Given the description of an element on the screen output the (x, y) to click on. 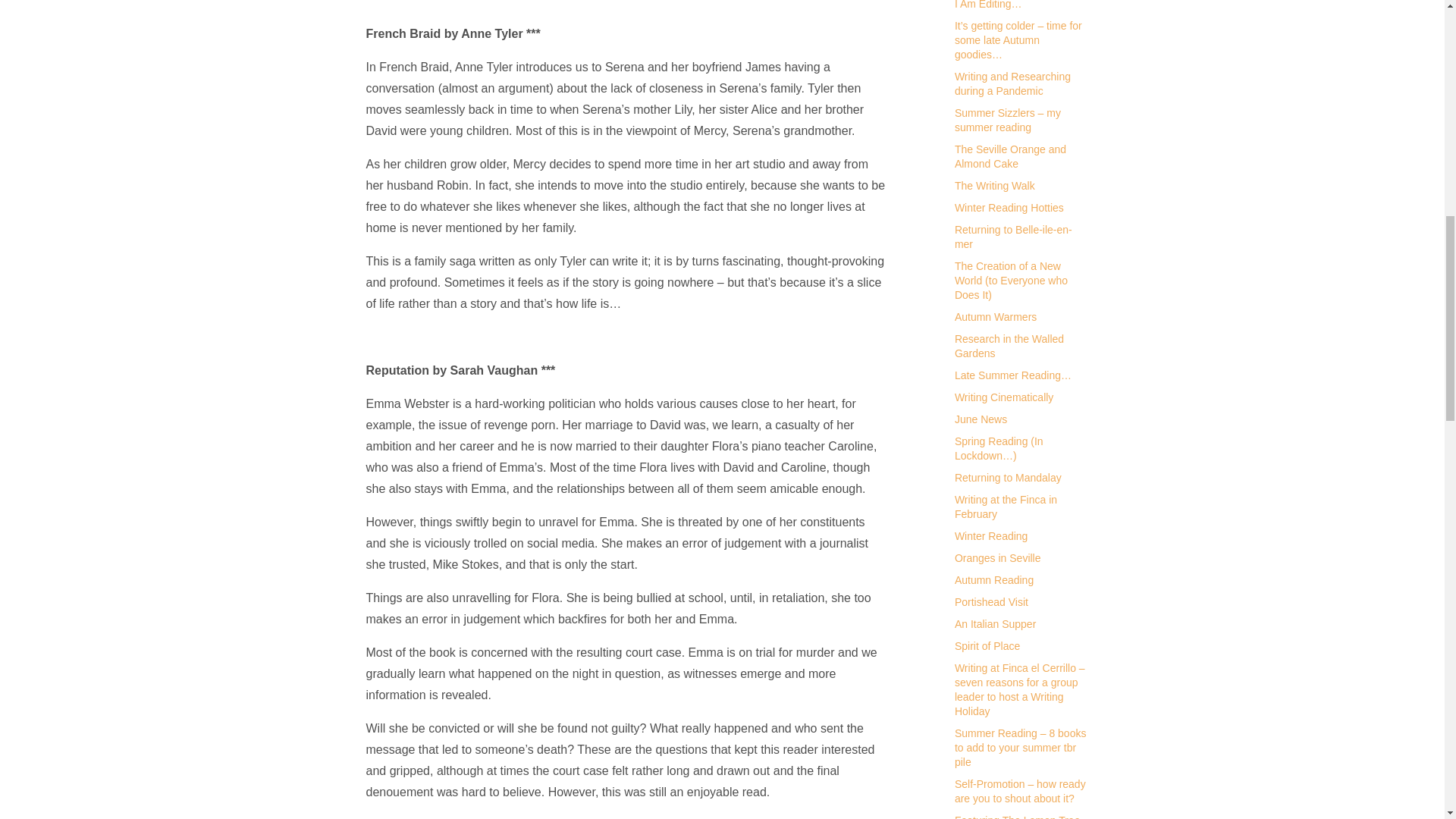
Writing Cinematically (1003, 397)
Research in the Walled Gardens (1009, 345)
The Seville Orange and Almond Cake (1010, 156)
Writing and Researching during a Pandemic (1012, 83)
Winter Reading Hotties (1009, 207)
Returning to Belle-ile-en-mer (1013, 236)
June News (981, 419)
The Writing Walk (995, 185)
Returning to Mandalay (1008, 477)
Autumn Warmers (995, 316)
